Given the description of an element on the screen output the (x, y) to click on. 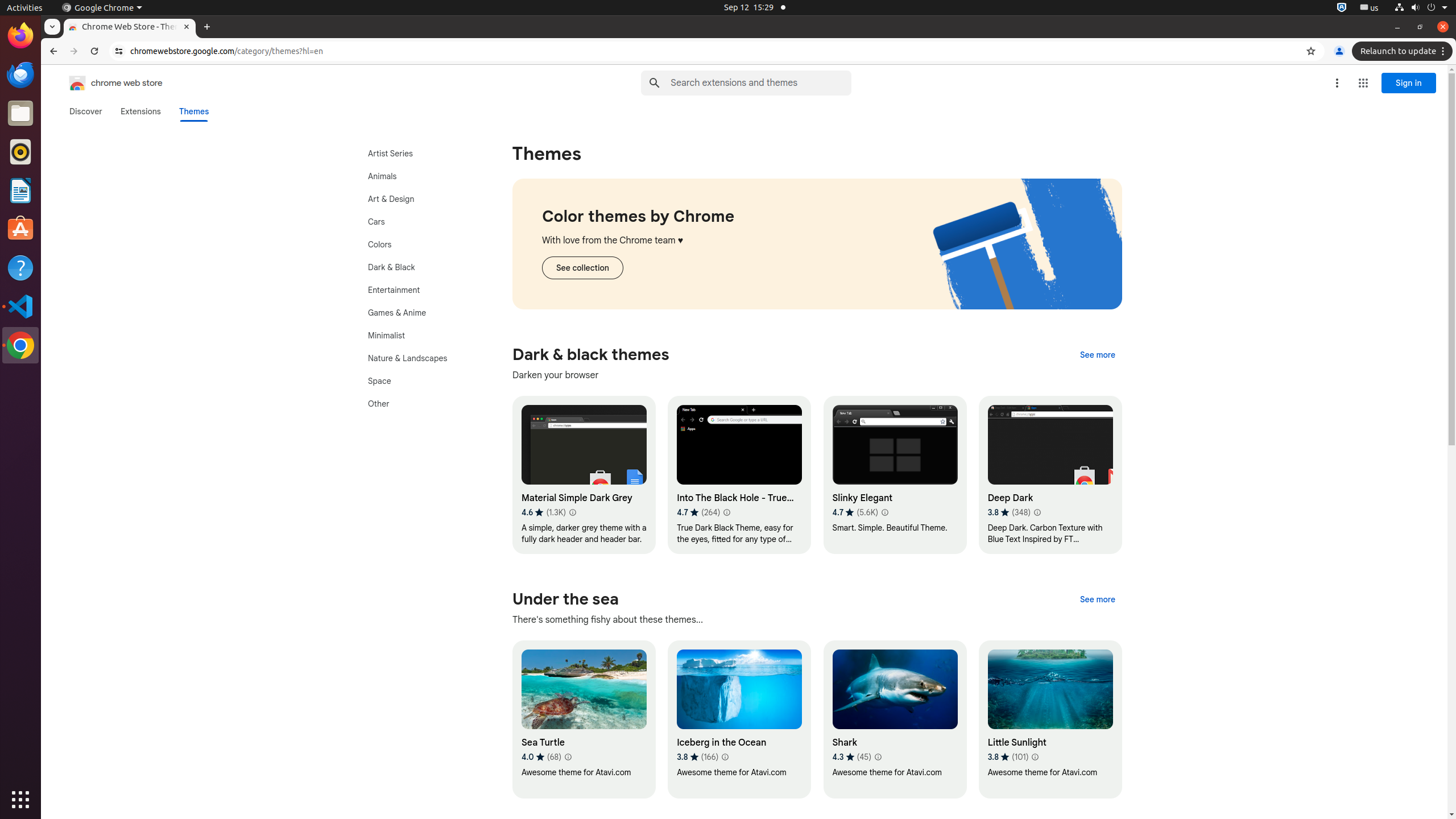
Slinky Elegant Element type: link (894, 474)
